Given the description of an element on the screen output the (x, y) to click on. 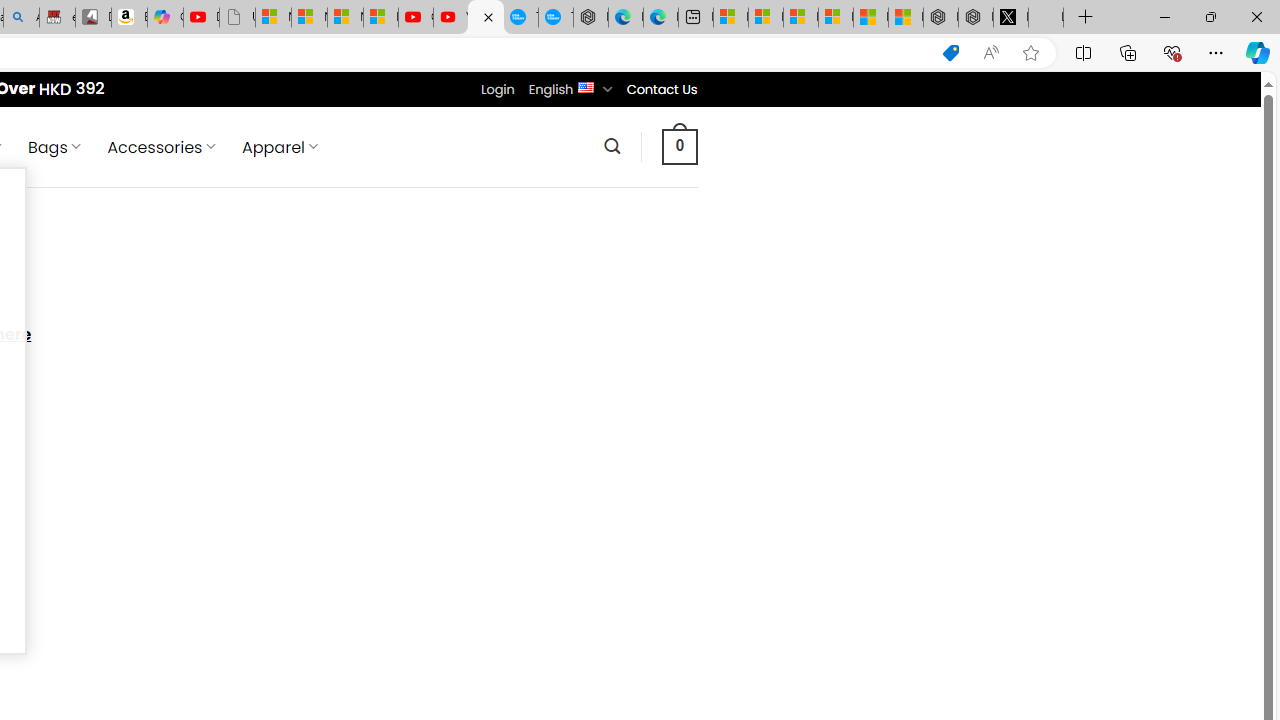
English (586, 86)
Contact Us (661, 89)
Gloom - YouTube (415, 17)
Nordace - Nordace has arrived Hong Kong (590, 17)
  0   (679, 146)
Login (497, 89)
Contact Us (661, 89)
